Given the description of an element on the screen output the (x, y) to click on. 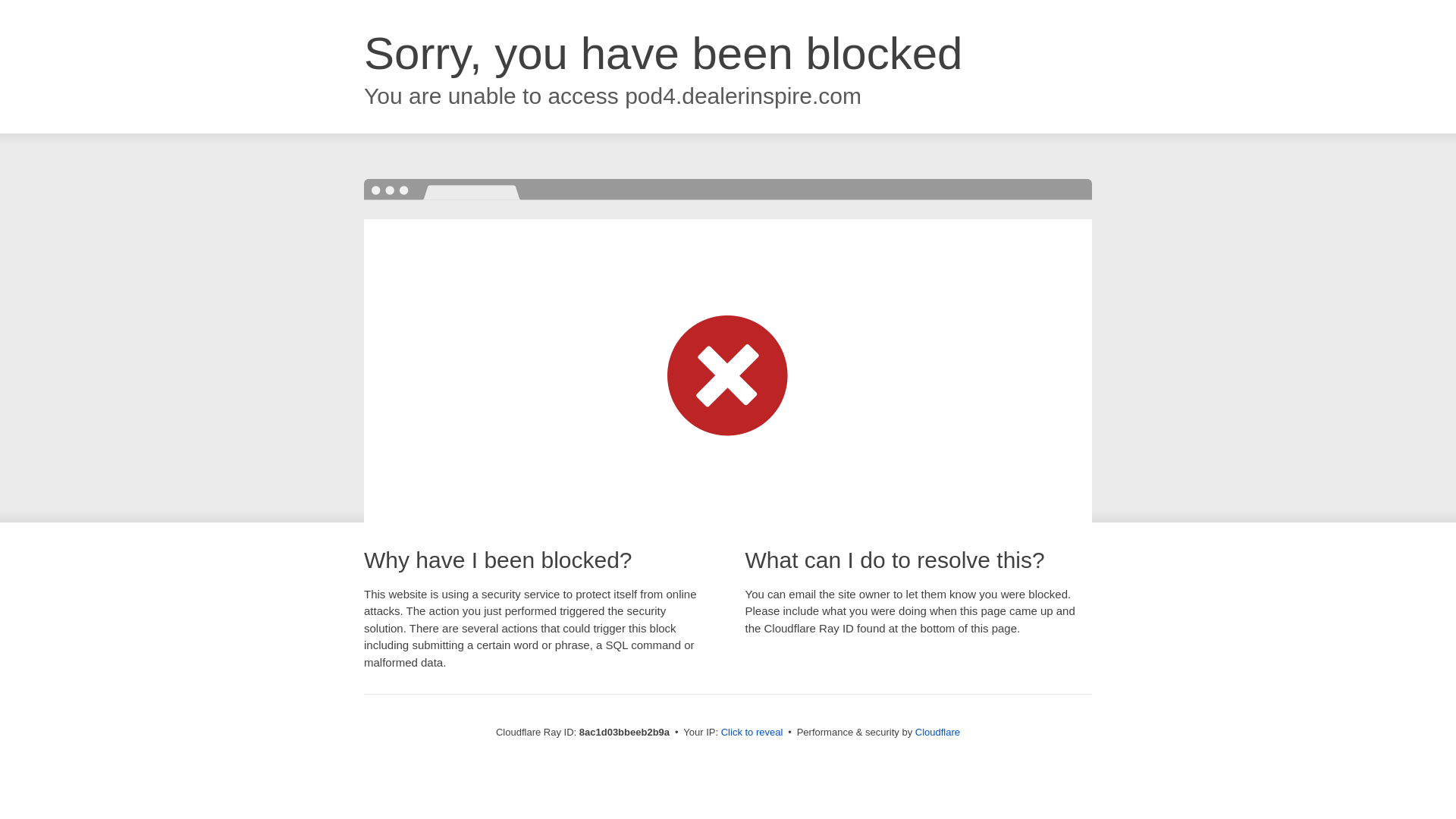
Cloudflare (937, 731)
Click to reveal (751, 732)
